Given the description of an element on the screen output the (x, y) to click on. 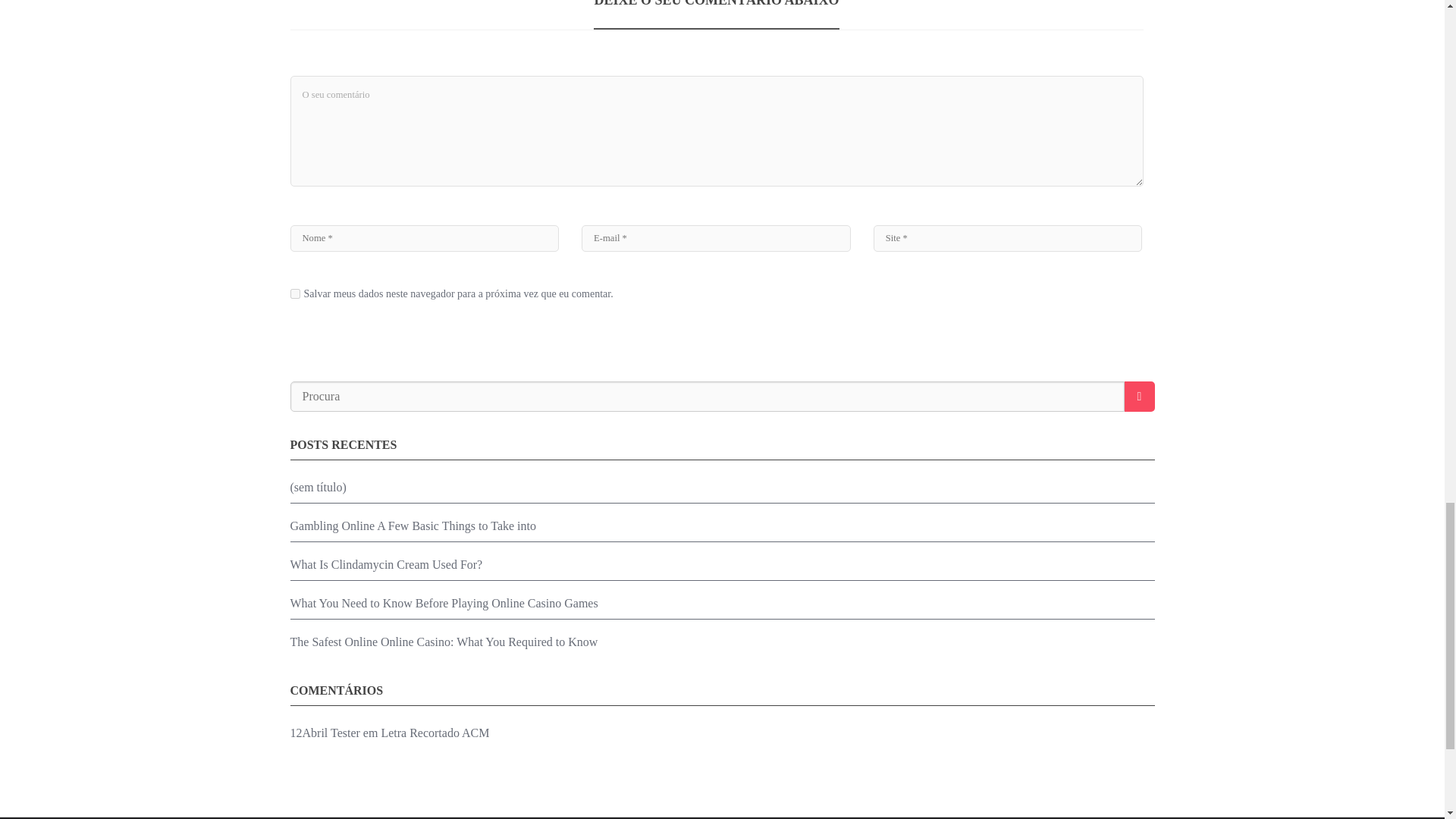
yes (294, 293)
